Given the description of an element on the screen output the (x, y) to click on. 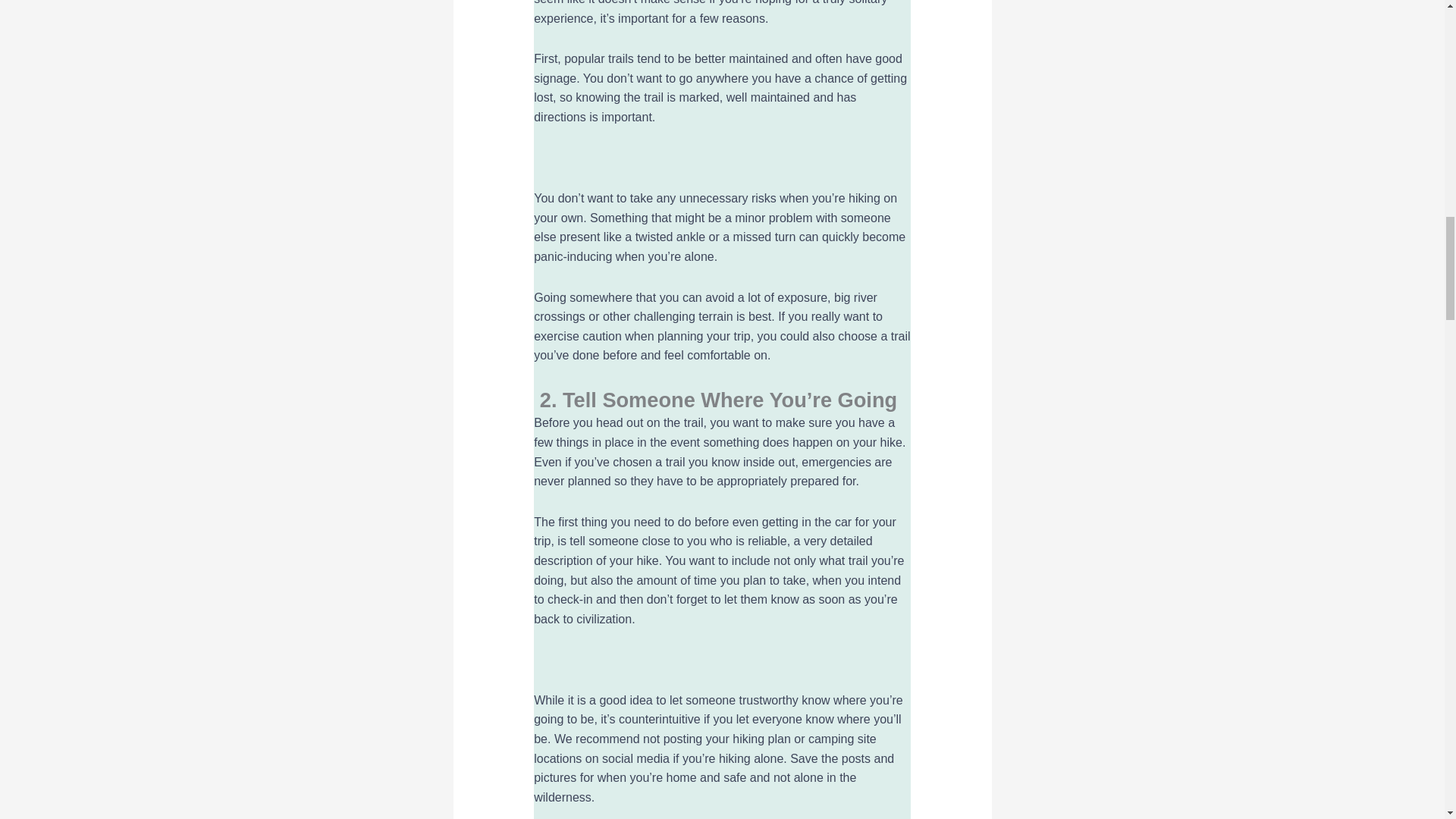
Advertisement (722, 659)
Advertisement (722, 158)
